Given the description of an element on the screen output the (x, y) to click on. 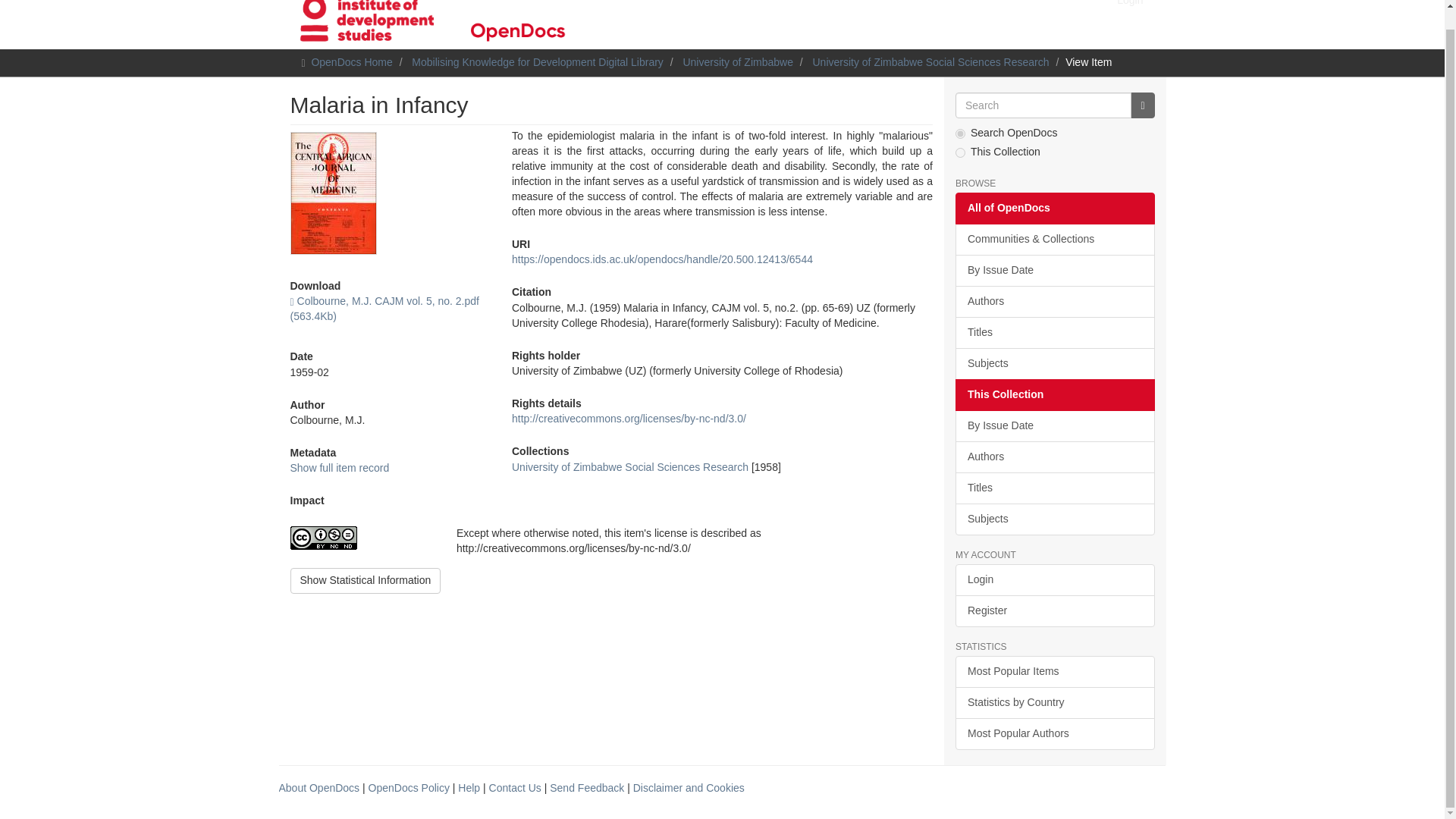
Authors (1054, 457)
Titles (1054, 332)
Titles (1054, 488)
University of Zimbabwe Social Sciences Research (630, 467)
This Collection (1054, 395)
Show Statistical Information (365, 580)
Mobilising Knowledge for Development Digital Library (537, 61)
All of OpenDocs (1054, 208)
Login (1129, 9)
University of Zimbabwe (737, 61)
